Given the description of an element on the screen output the (x, y) to click on. 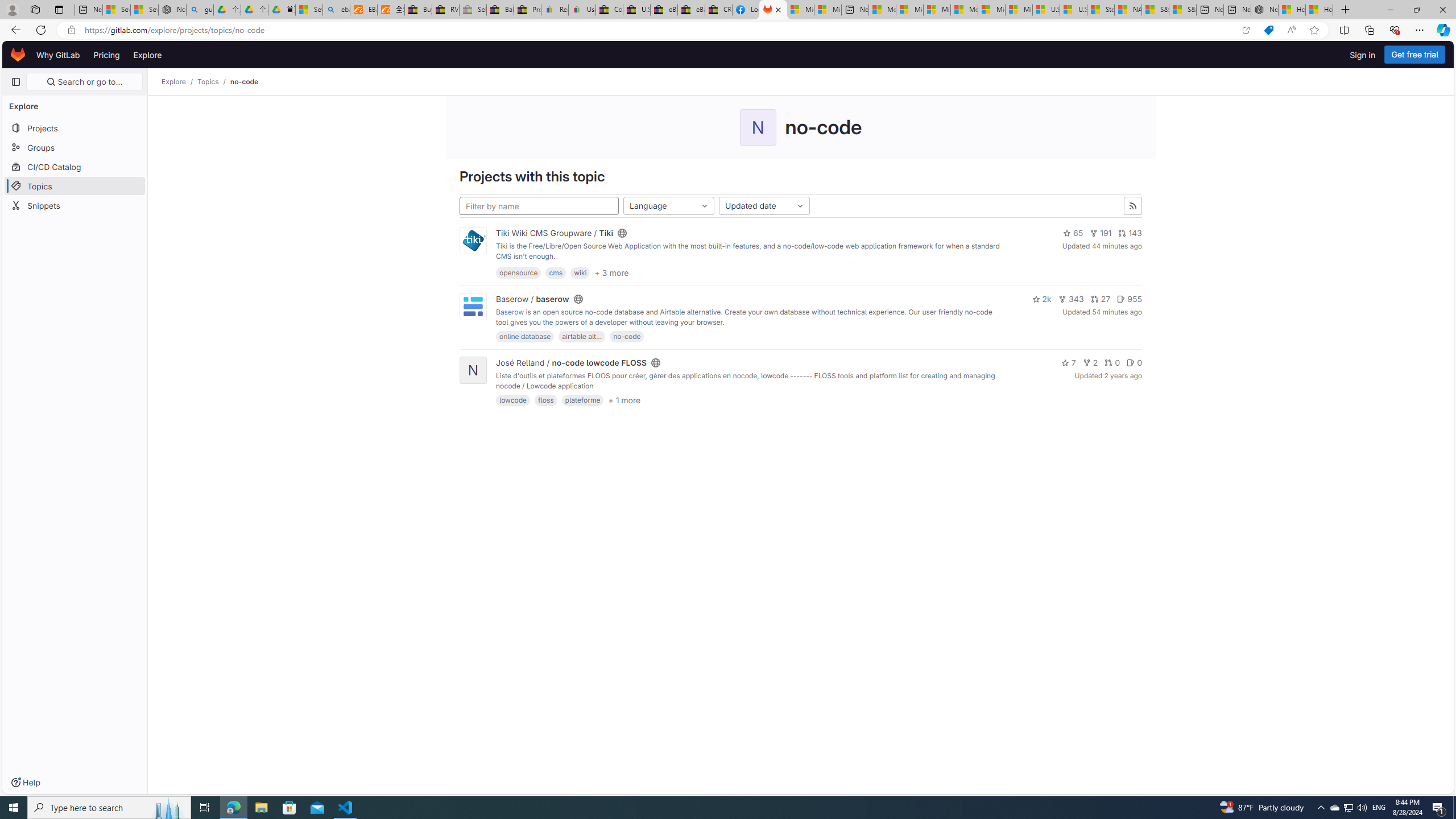
N (473, 370)
https://dev.tiki.org/Where-To-Commit (889, 266)
plateforme (582, 399)
Snippets (74, 205)
Baserow / baserow (532, 299)
Language (668, 205)
User Privacy Notice | eBay (581, 9)
Baserow (510, 311)
Sell worldwide with eBay - Sleeping (473, 9)
CI/CD Catalog (74, 166)
Class: s16 (655, 362)
